Given the description of an element on the screen output the (x, y) to click on. 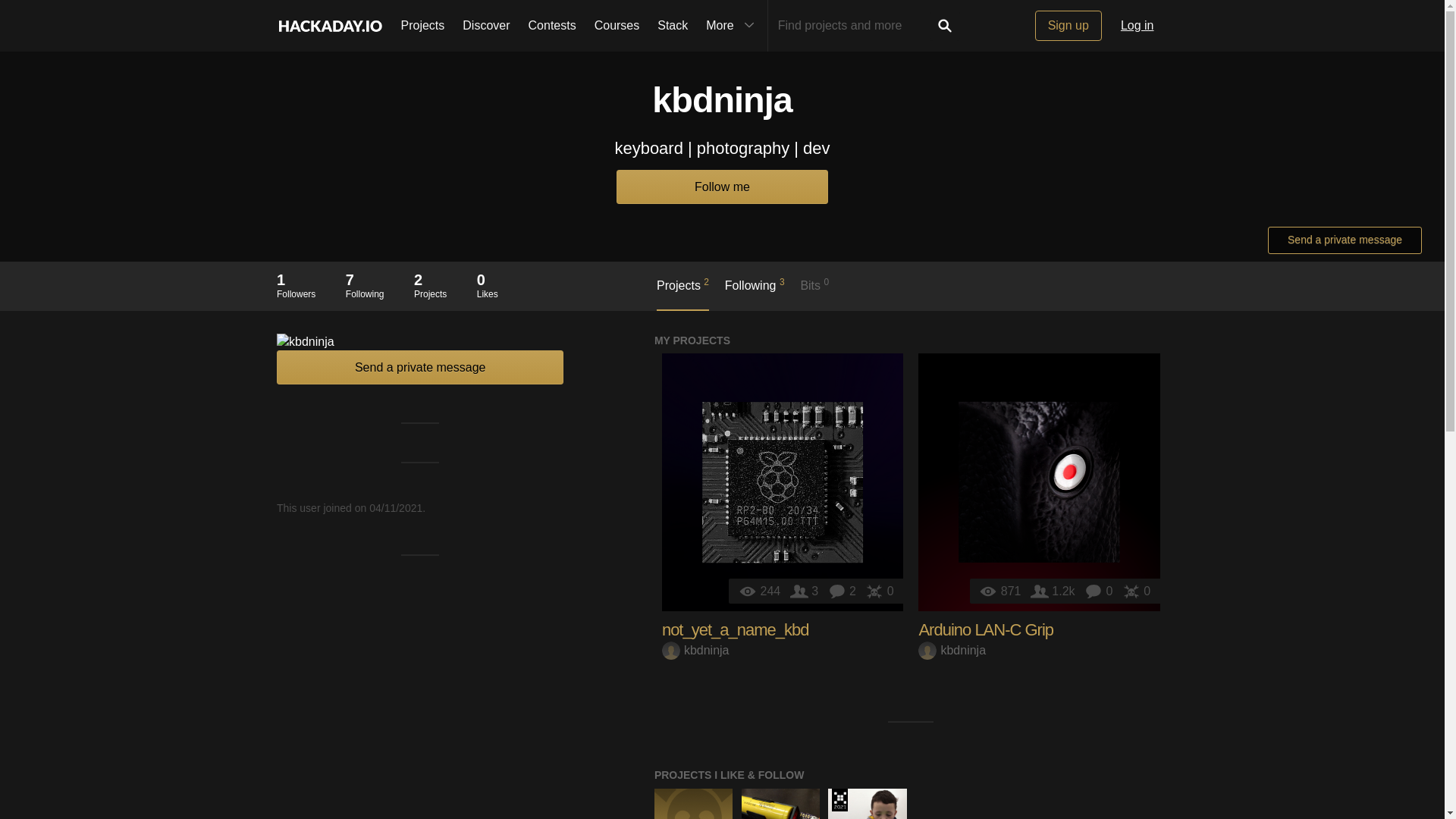
Search (944, 25)
Stack (672, 25)
Arduino LAN-C Grip (985, 629)
Projects 2 (682, 293)
Log in (1137, 25)
871 1.2k 0 0 (1039, 481)
Courses (617, 25)
Send a private message (1345, 239)
Contests (552, 25)
Arduino LAN-C Grip by kbdninja (1039, 481)
Likes (1136, 590)
Send a private message (419, 367)
kbdninja (951, 649)
kbdninja (695, 649)
